Given the description of an element on the screen output the (x, y) to click on. 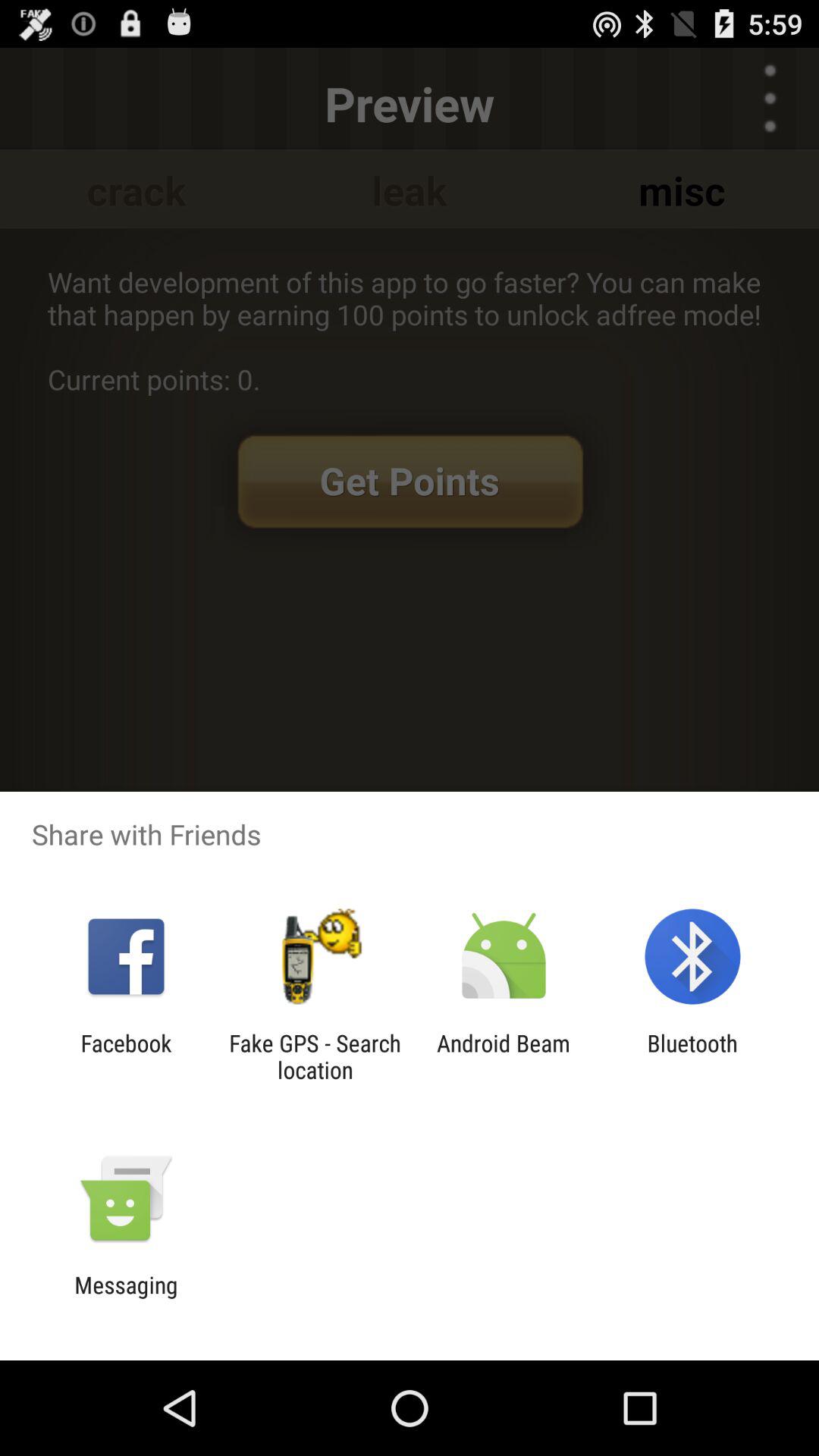
tap the icon to the right of the fake gps search (503, 1056)
